Given the description of an element on the screen output the (x, y) to click on. 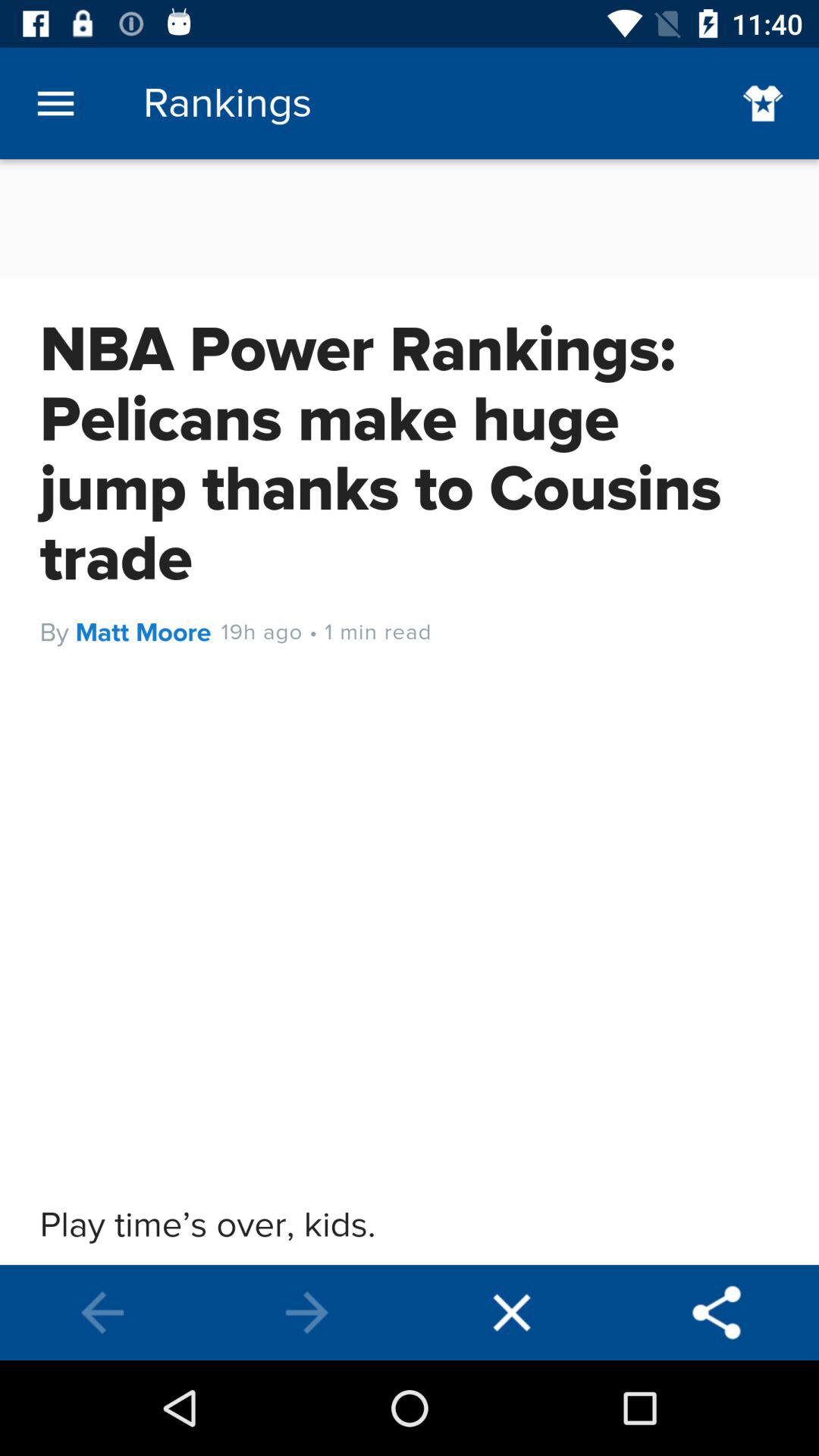
go to next page (306, 1312)
